Given the description of an element on the screen output the (x, y) to click on. 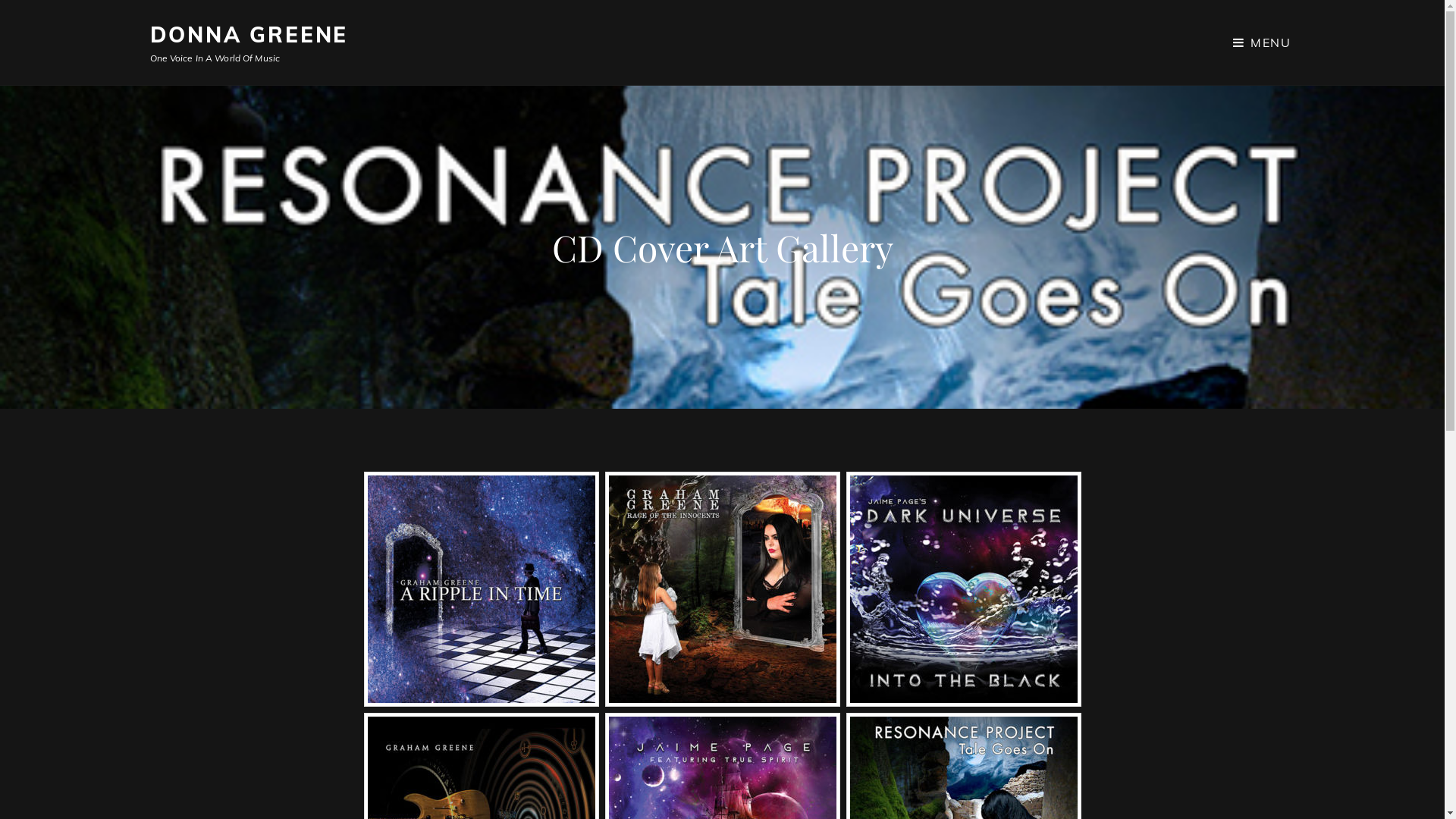
Into The Black - Dark Universe Element type: hover (962, 588)
DONNA GREENE Element type: text (249, 34)
MENU Element type: text (1261, 42)
A Ripple In Time - Graham Greene Element type: hover (480, 588)
Rage Of The Innocents - Graham Greene Element type: hover (721, 588)
